Given the description of an element on the screen output the (x, y) to click on. 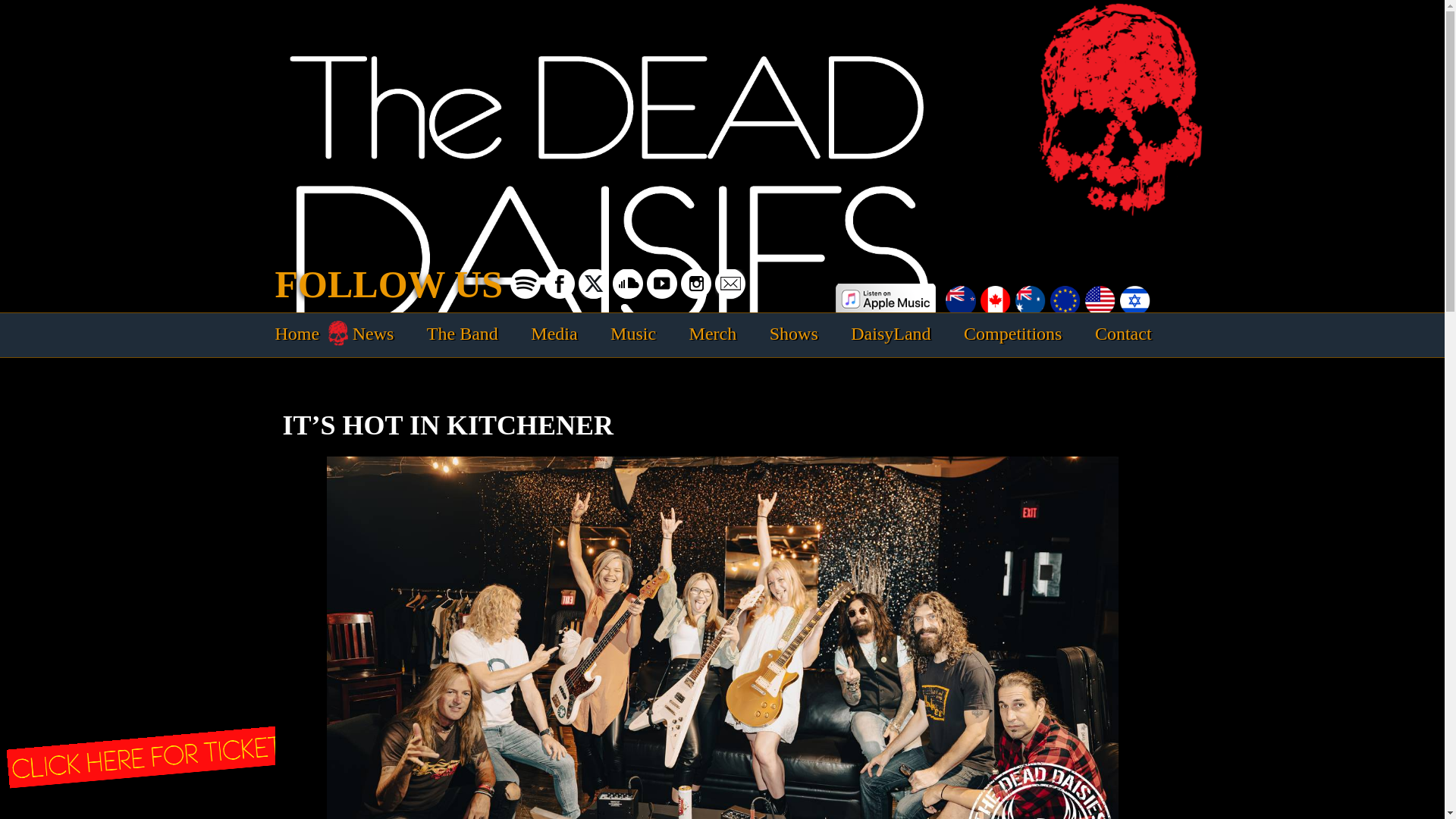
Instagram (696, 284)
Spotify (525, 284)
Facebook (559, 284)
YouTube (661, 284)
Media (553, 333)
Soundcloud (627, 284)
The Band (461, 333)
Home (296, 333)
Twitter (593, 284)
